Given the description of an element on the screen output the (x, y) to click on. 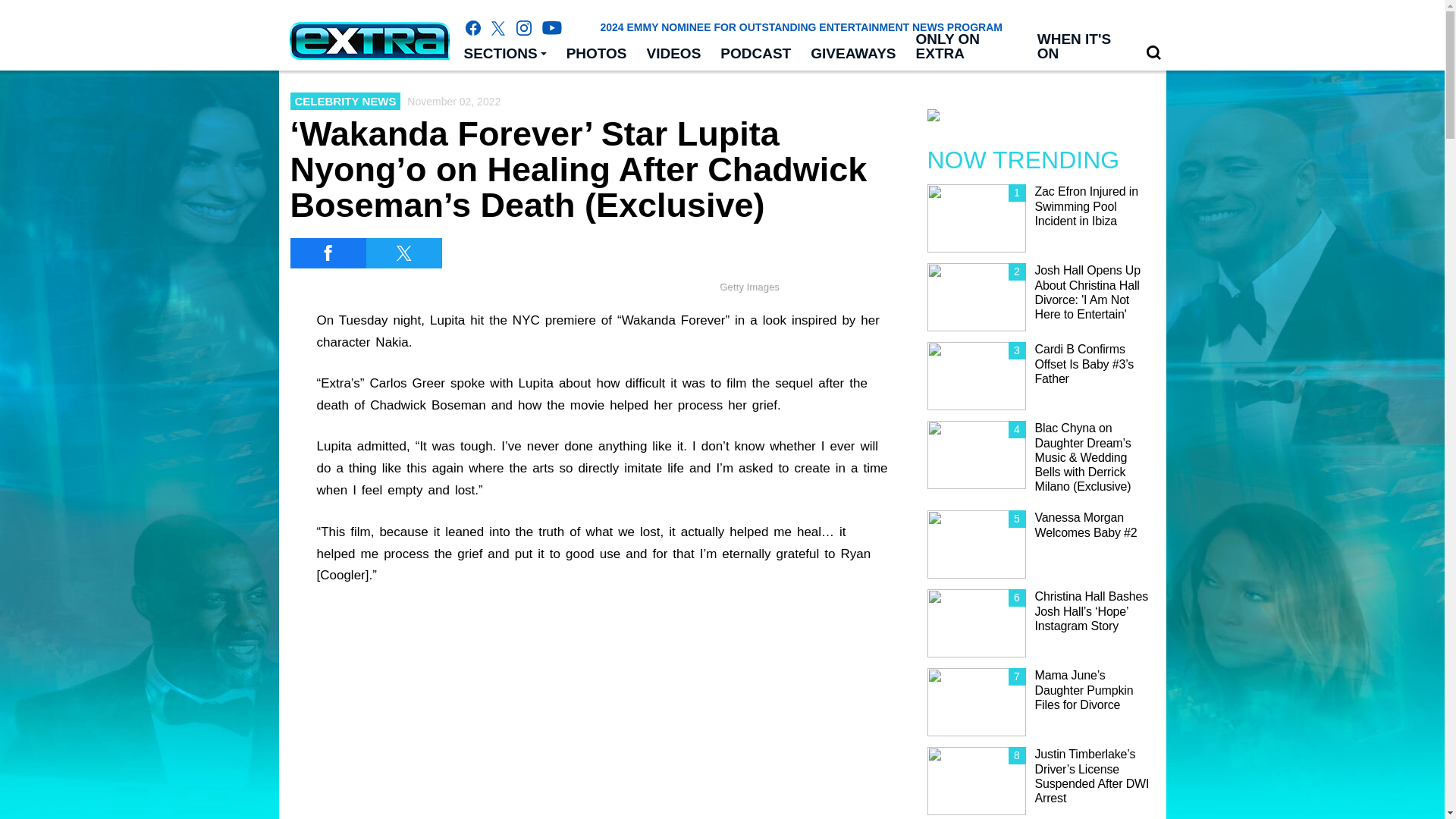
VIDEOS (674, 54)
CELEBRITY NEWS (344, 100)
WHEN IT'S ON (1080, 47)
PHOTOS (596, 54)
Search (1153, 52)
GIVEAWAYS (852, 54)
ONLY ON EXTRA (966, 47)
PODCAST (755, 54)
Search (1153, 53)
SECTIONS (504, 54)
